Given the description of an element on the screen output the (x, y) to click on. 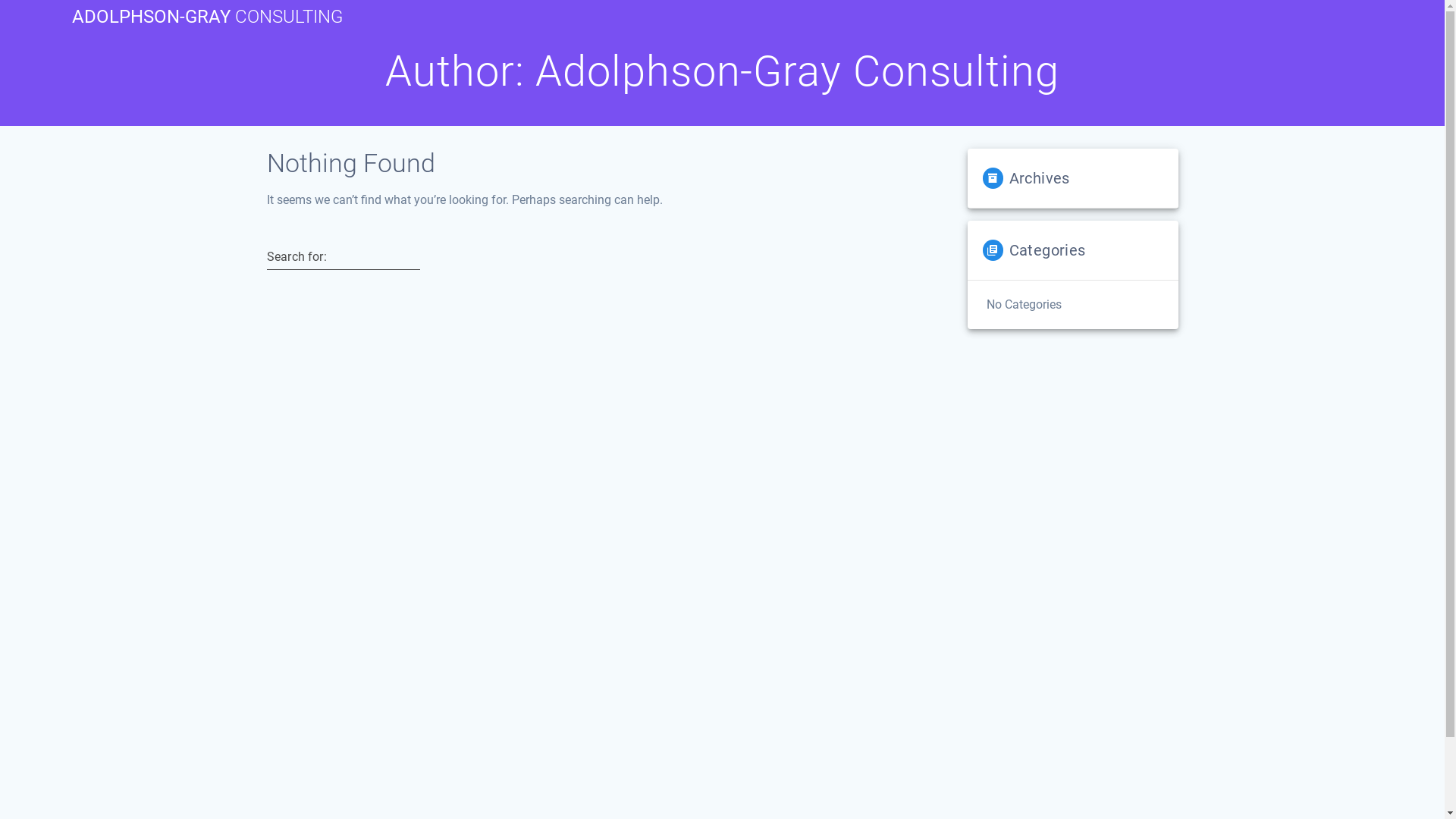
ADOLPHSON-GRAY CONSULTING Element type: text (207, 16)
